Given the description of an element on the screen output the (x, y) to click on. 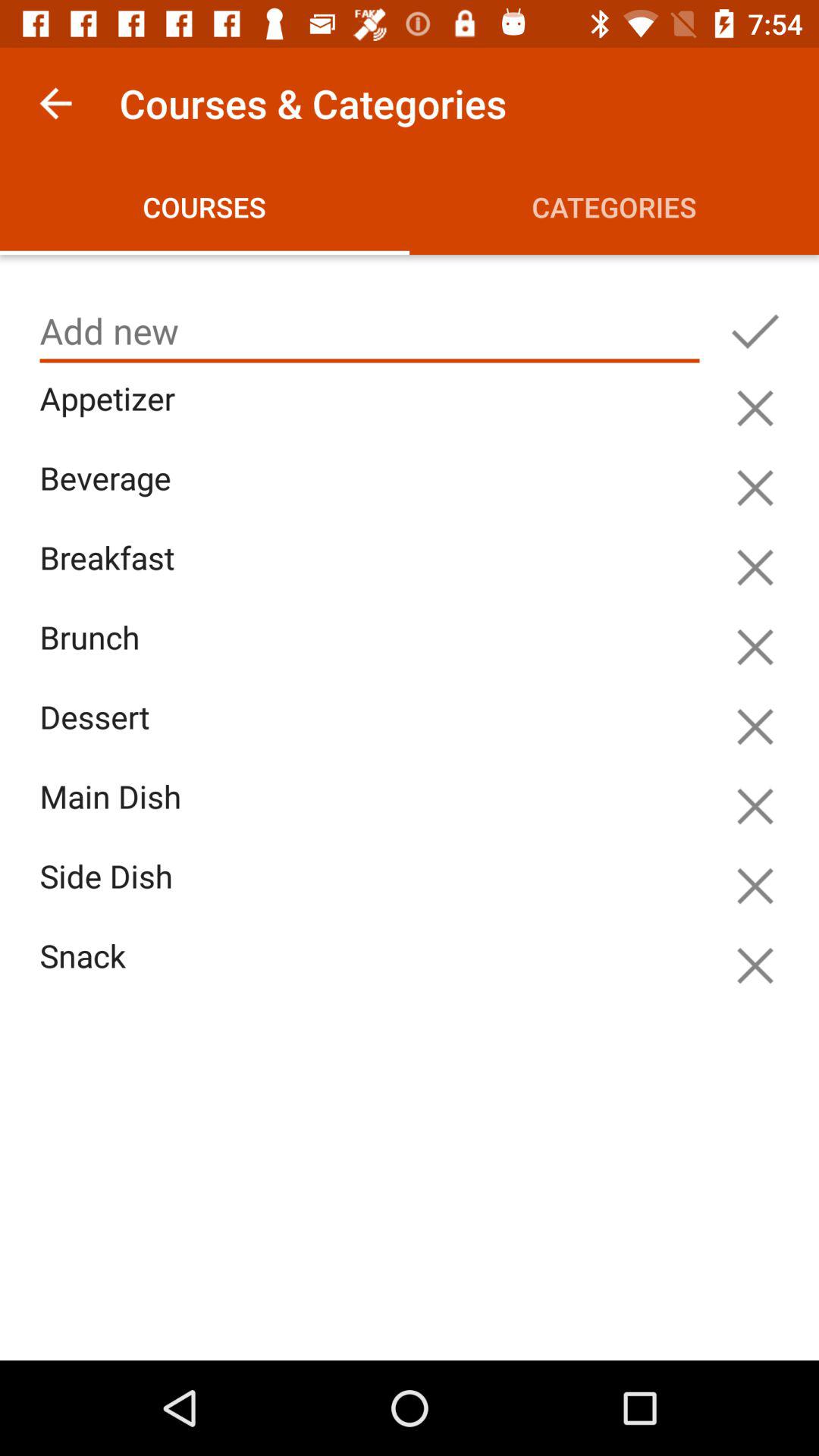
enter what to add (755, 331)
